Given the description of an element on the screen output the (x, y) to click on. 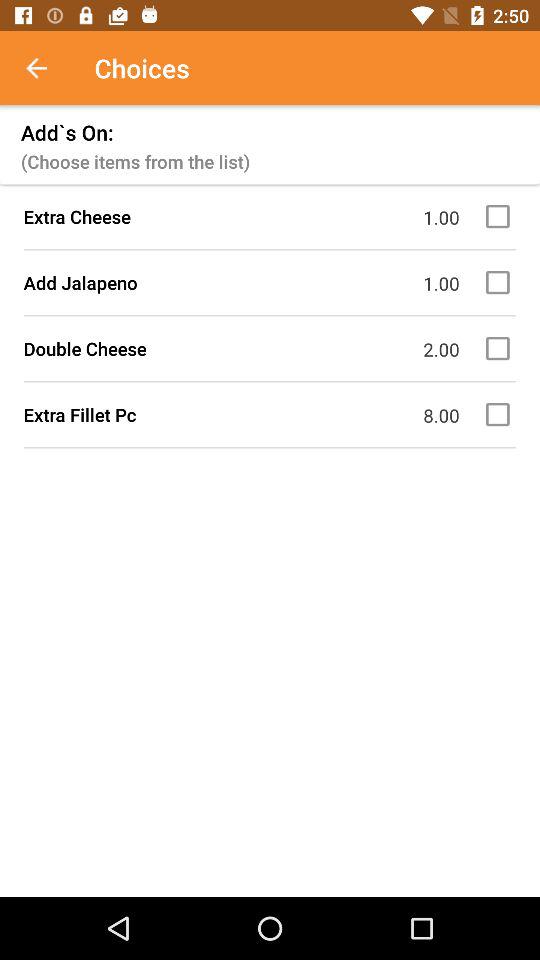
check box option (501, 282)
